Given the description of an element on the screen output the (x, y) to click on. 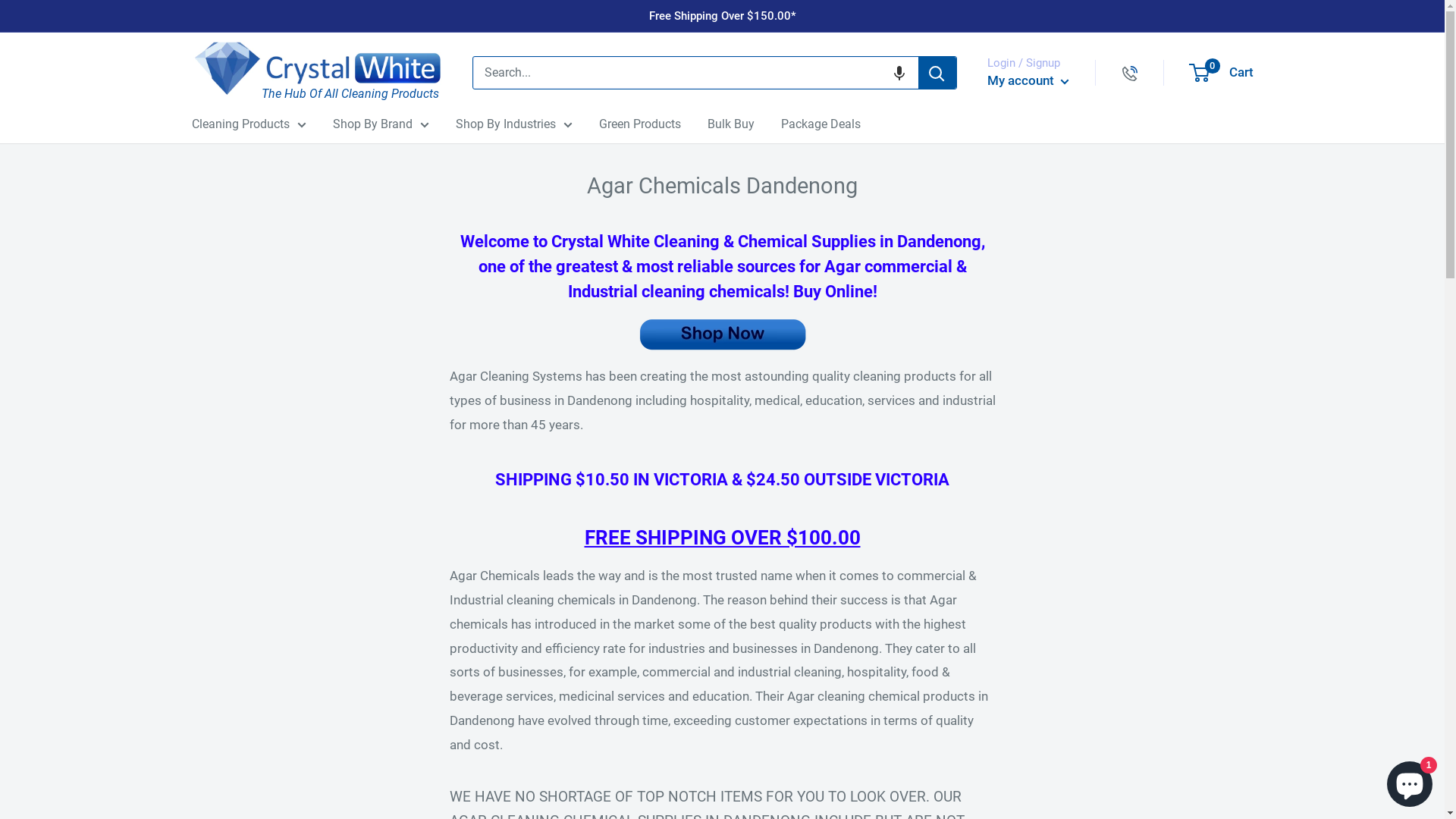
Cleaning Supplies  Element type: hover (721, 333)
Shop By Brand Element type: text (380, 123)
My account Element type: text (1028, 81)
Green Products Element type: text (639, 123)
Shop By Industries Element type: text (513, 123)
Package Deals Element type: text (820, 123)
Shopify online store chat Element type: hover (1409, 780)
Crystalwhite Cleaning Supplies Element type: text (316, 68)
0
Cart Element type: text (1221, 72)
Bulk Buy Element type: text (729, 123)
Free Shipping Over $150.00* Element type: text (722, 15)
Cleaning Products Element type: text (248, 123)
